Given the description of an element on the screen output the (x, y) to click on. 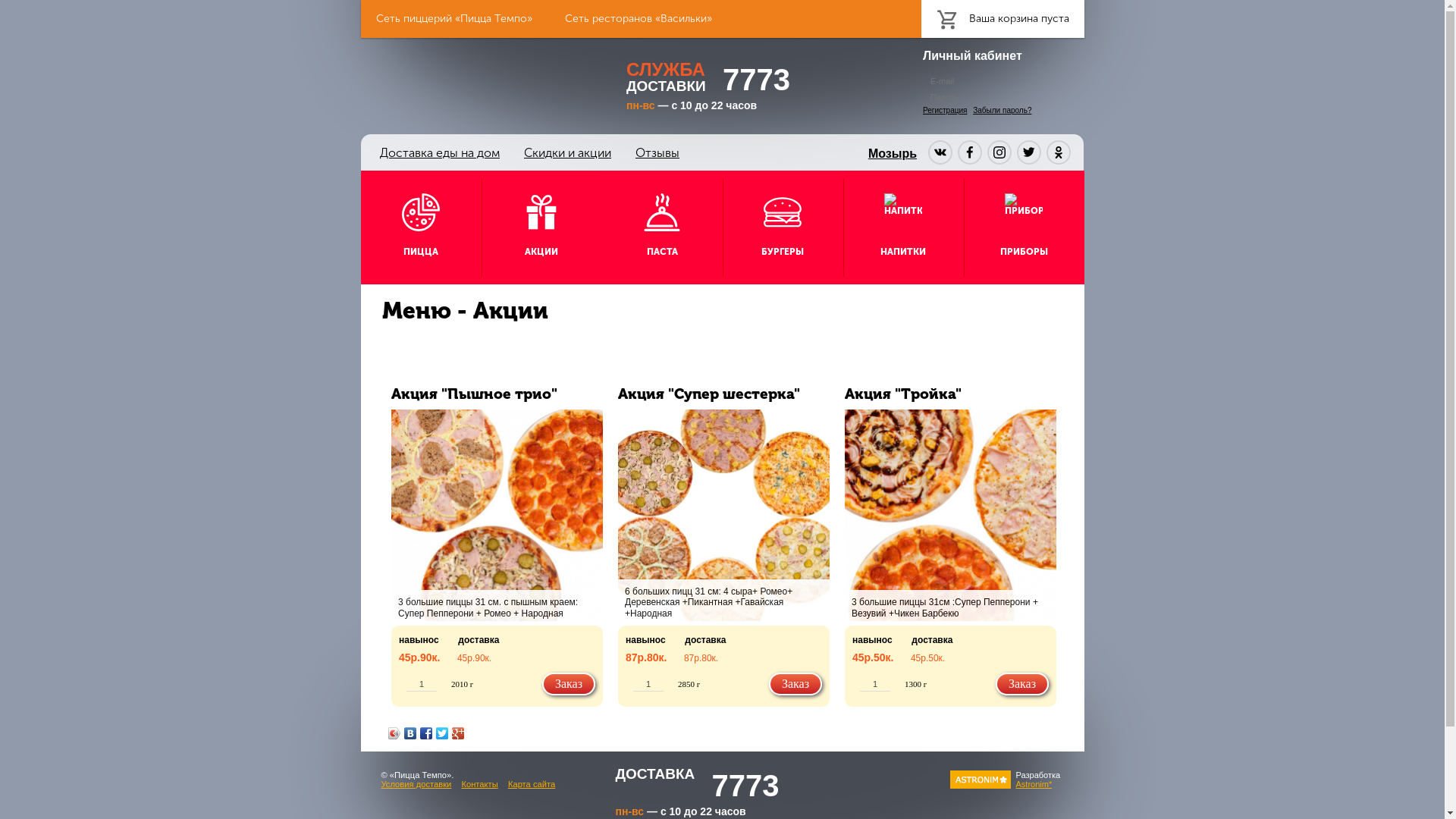
Twitter Element type: hover (442, 733)
Google Plus Element type: hover (458, 733)
Astronim* Element type: text (1034, 783)
Facebook Element type: hover (426, 733)
